Given the description of an element on the screen output the (x, y) to click on. 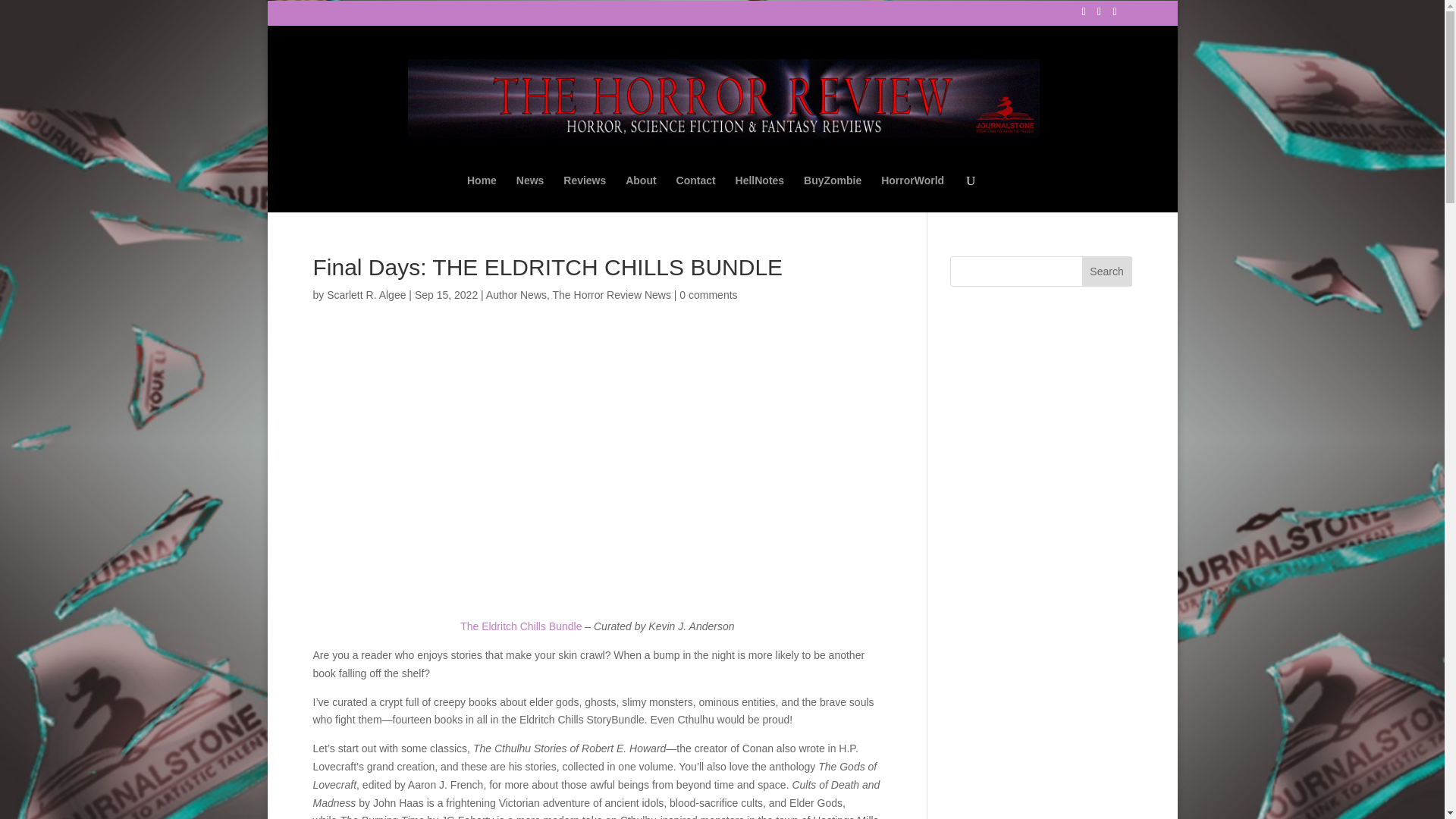
Contact (696, 192)
Scarlett R. Algee (366, 294)
BuyZombie (832, 192)
The Eldritch Chills Bundle (520, 625)
HellNotes (759, 192)
Search (1106, 271)
Search (1106, 271)
Posts by Scarlett R. Algee (366, 294)
The Horror Review News (612, 294)
Author News (516, 294)
0 comments (707, 294)
Reviews (584, 192)
HorrorWorld (911, 192)
